Given the description of an element on the screen output the (x, y) to click on. 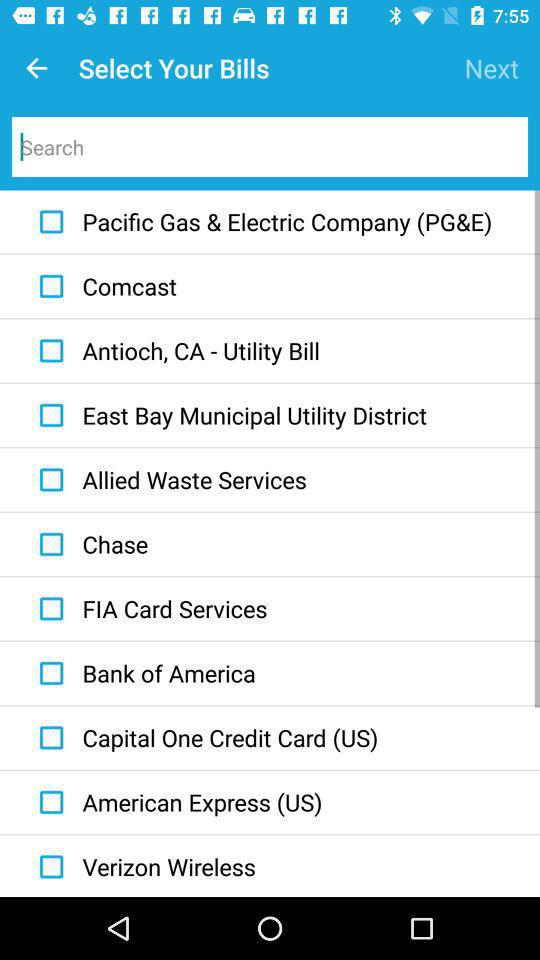
tap the bank of america item (142, 673)
